Given the description of an element on the screen output the (x, y) to click on. 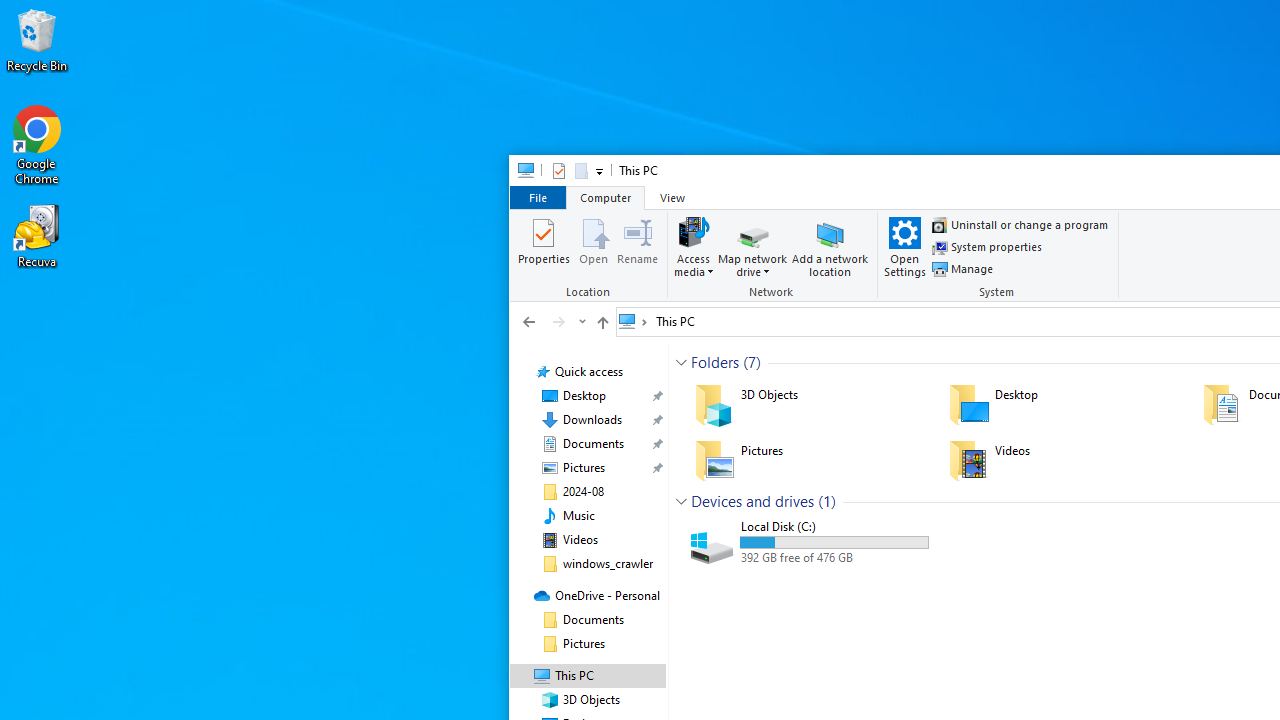
Back to 3D Objects (Alt + Left Arrow) (529, 321)
Map network drive (752, 265)
Recent locations (580, 321)
Navigation buttons (552, 321)
System (999, 255)
Access media (693, 246)
All locations (633, 321)
Network (773, 255)
Space used (834, 542)
View (672, 196)
Up band toolbar (602, 325)
Open (593, 246)
Videos (1062, 460)
New folder (580, 169)
Properties (544, 246)
